Given the description of an element on the screen output the (x, y) to click on. 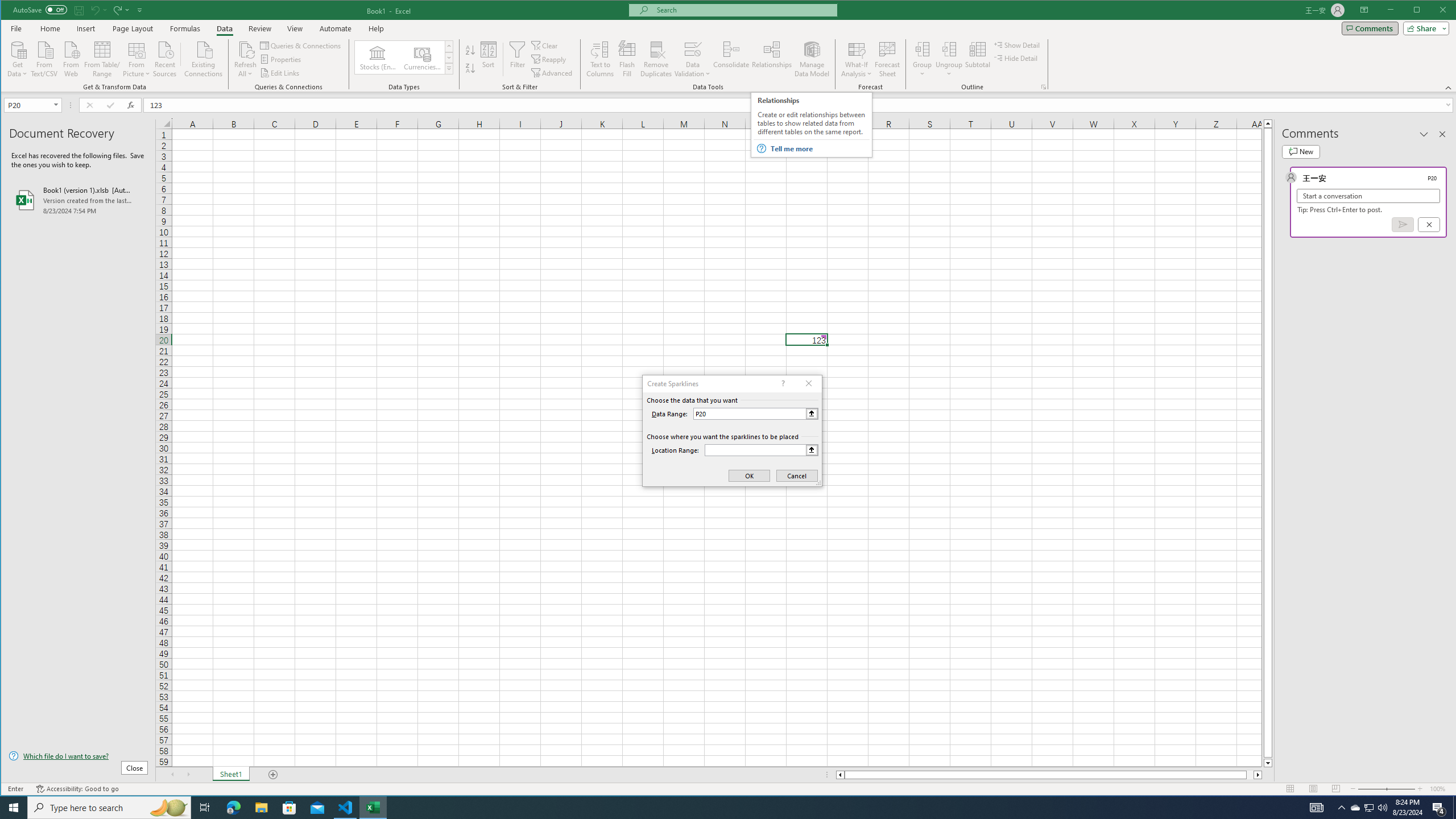
Maximize (1432, 11)
New comment (1300, 151)
